Given the description of an element on the screen output the (x, y) to click on. 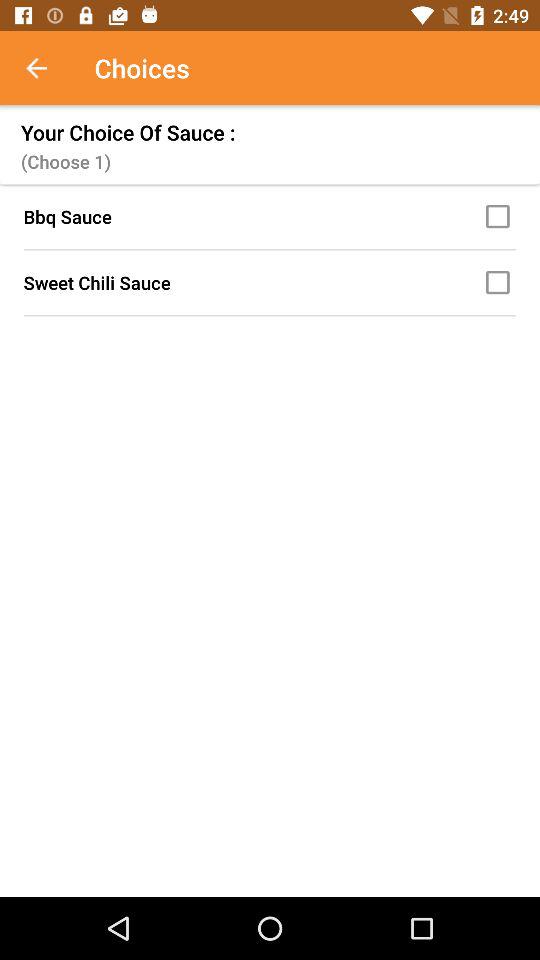
bbqsquce (501, 216)
